Given the description of an element on the screen output the (x, y) to click on. 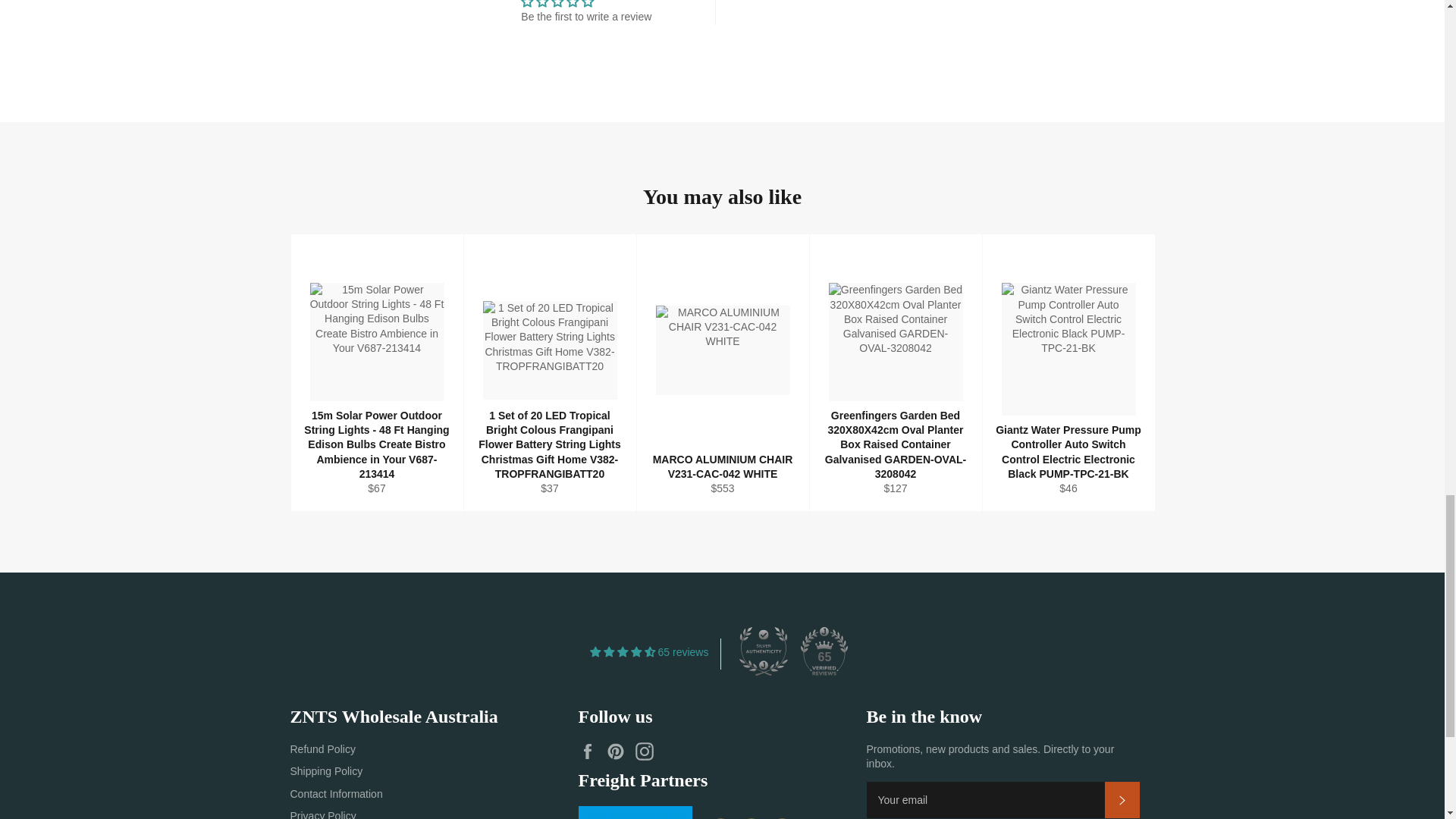
ZNTS Wholesale Australia on Facebook (591, 751)
ZNTS Wholesale Australia on Instagram (647, 751)
ZNTS Wholesale Australia on Pinterest (619, 751)
